Given the description of an element on the screen output the (x, y) to click on. 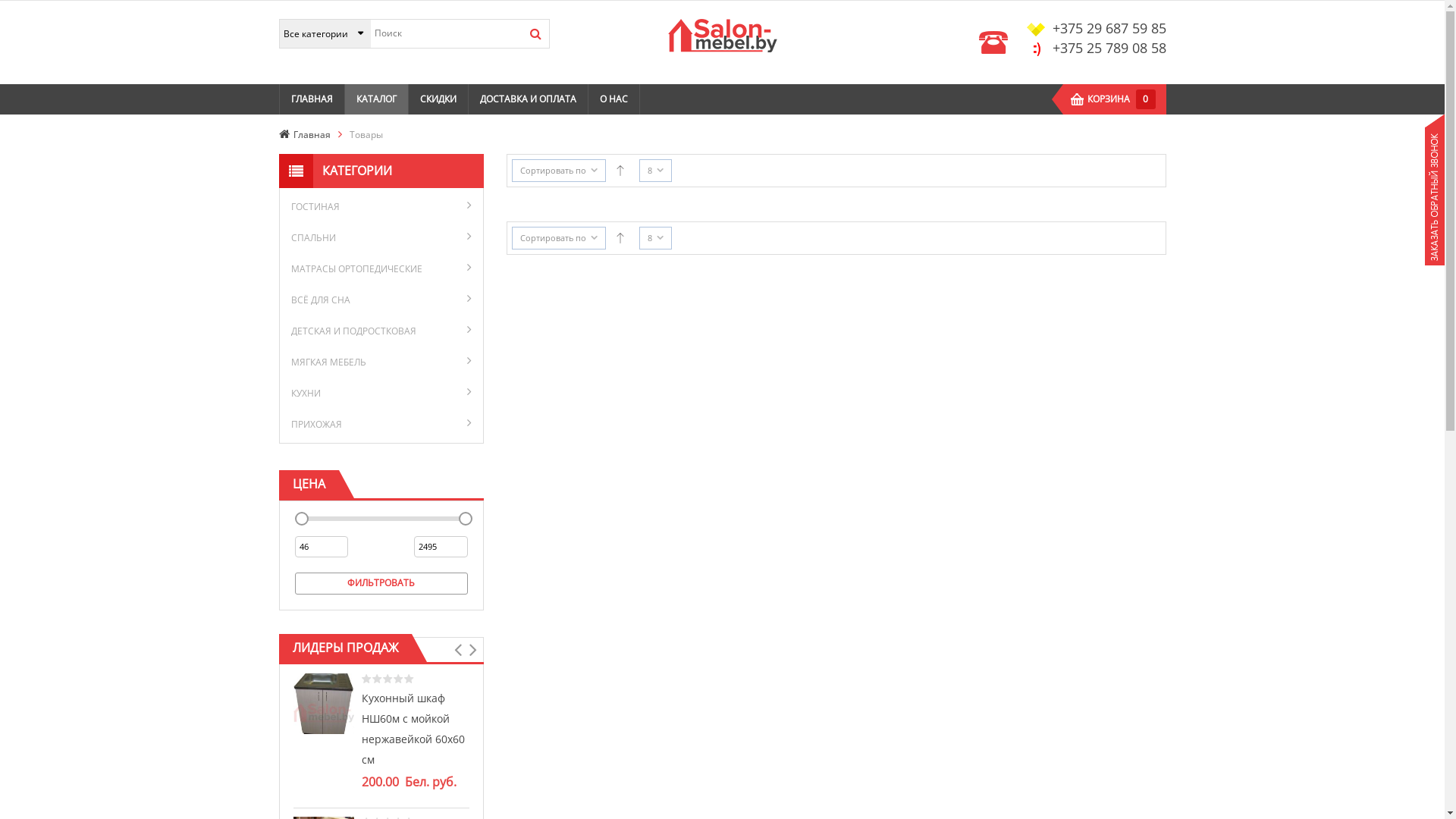
8 Element type: text (655, 170)
8 Element type: text (655, 237)
0 Element type: text (1145, 99)
Next Element type: hover (473, 649)
Search Element type: hover (535, 33)
Previous Element type: hover (457, 649)
